Given the description of an element on the screen output the (x, y) to click on. 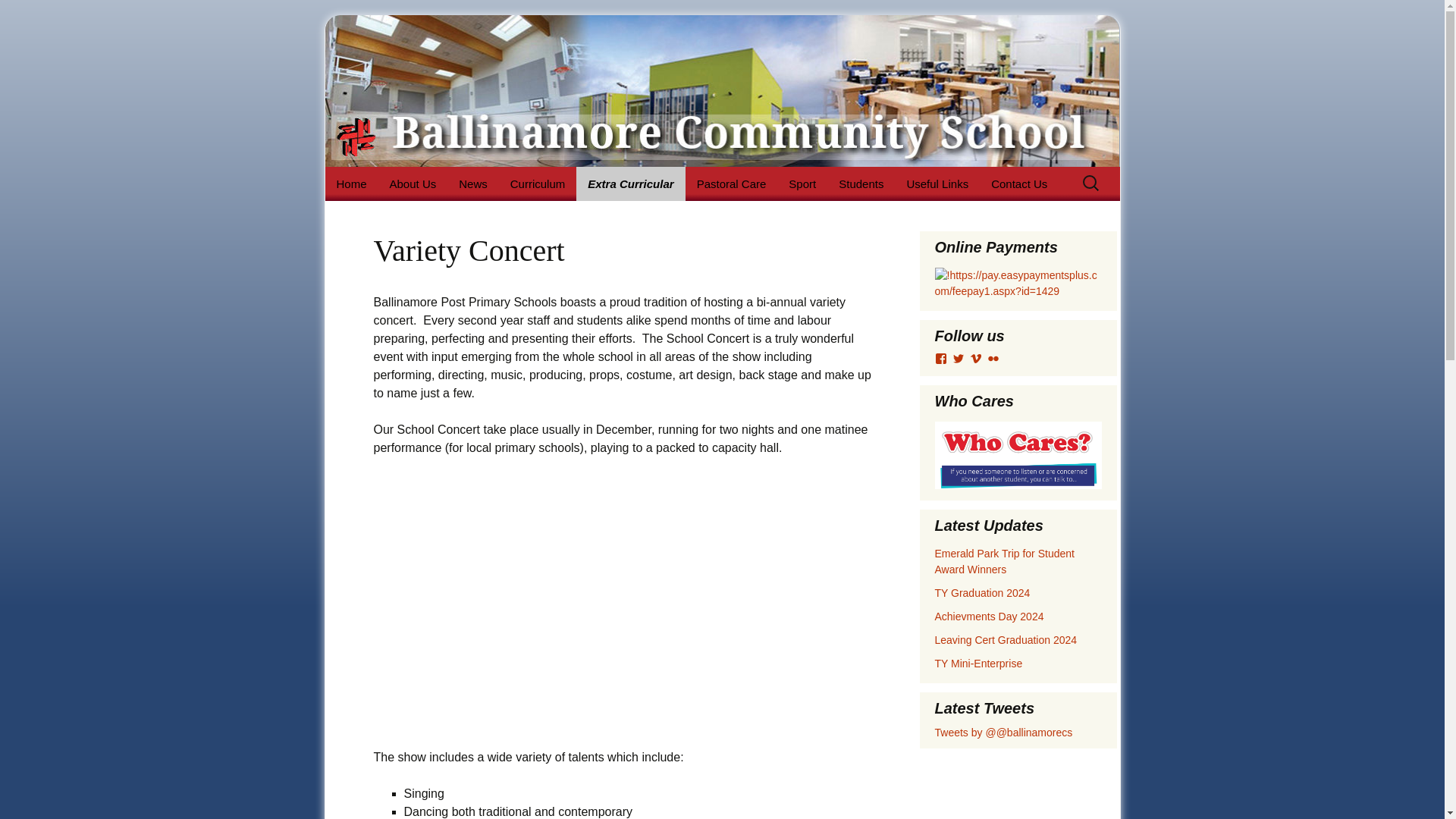
Home (350, 183)
Click to pay school bills online (1017, 283)
Pastoral Care (731, 183)
Curriculum (537, 183)
Click to pay school bills online (1017, 282)
About Us (413, 183)
Wellbeing (574, 215)
Official Opening Celebration (453, 220)
News (472, 183)
Chaplaincy (761, 215)
Amber Flag (652, 215)
Extra Curricular (630, 183)
